Given the description of an element on the screen output the (x, y) to click on. 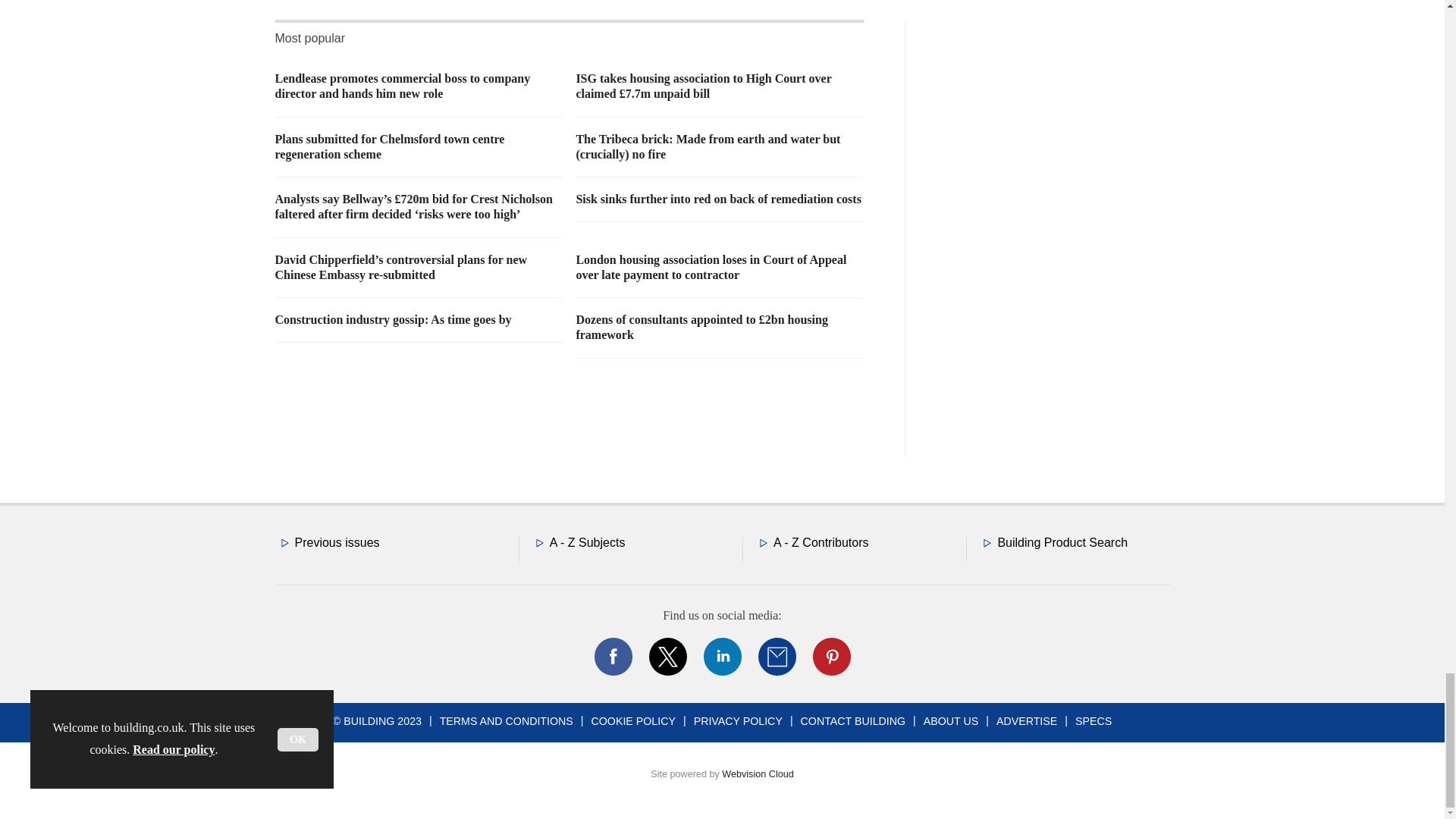
Connect with us on Pinterest (830, 656)
Connect with us on Twitter (667, 656)
Connect with us on Linked in (721, 656)
Connect with us on Facebook (611, 656)
Email us (776, 656)
